Given the description of an element on the screen output the (x, y) to click on. 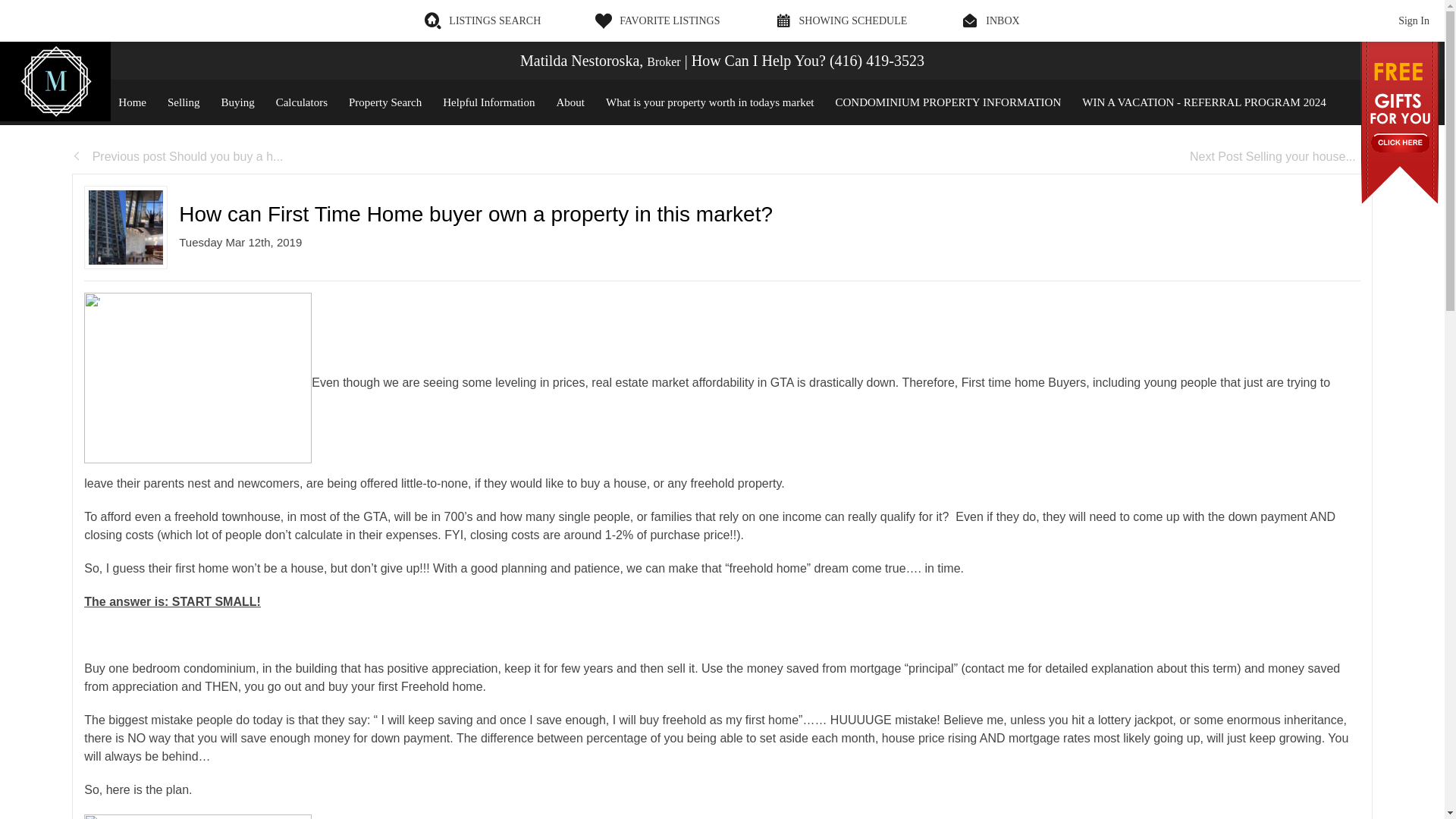
Showing Schedule (840, 20)
CONDOMINIUM PROPERTY INFORMATION (948, 102)
LISTINGS SEARCH (482, 20)
Home (132, 102)
FAVORITE LISTINGS (657, 20)
Selling (184, 102)
What is your property worth in todays market (710, 102)
Calculators (300, 102)
WIN A VACATION - REFERRAL PROGRAM 2024 (1203, 102)
SHOWING SCHEDULE (840, 20)
